Given the description of an element on the screen output the (x, y) to click on. 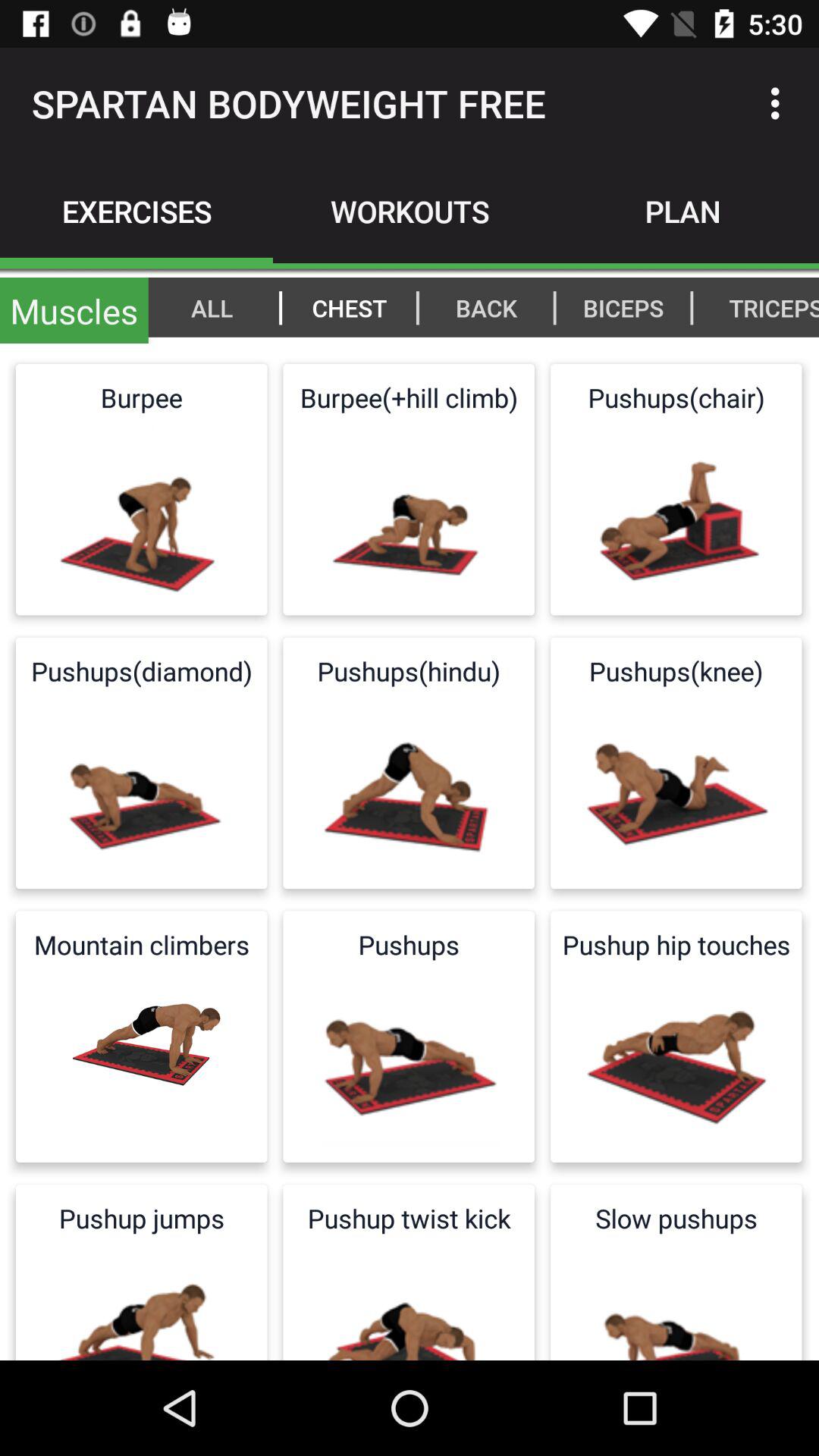
select icon above the pushups(chair) (765, 307)
